Given the description of an element on the screen output the (x, y) to click on. 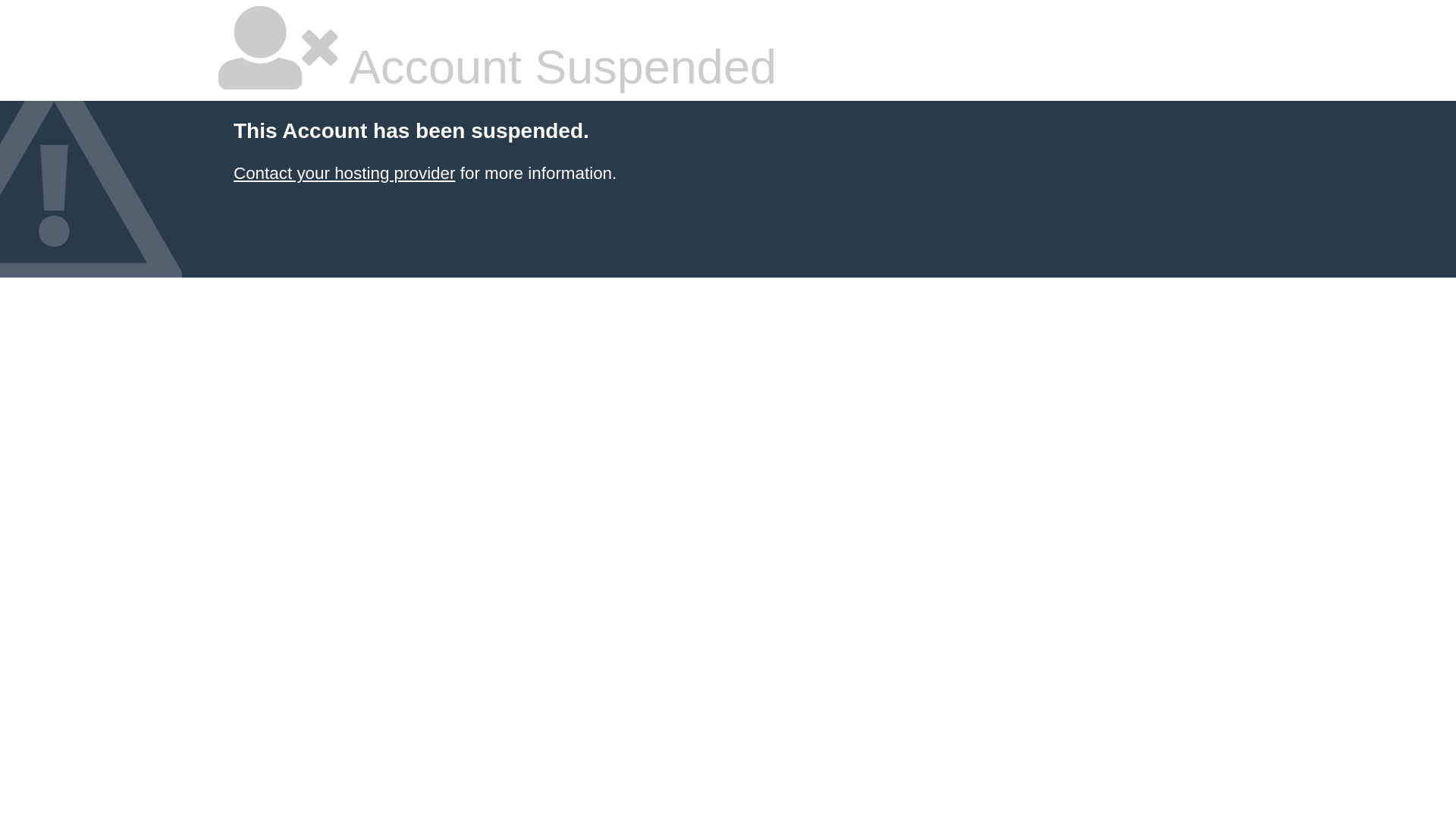
Contact your hosting provider Element type: text (344, 172)
